Given the description of an element on the screen output the (x, y) to click on. 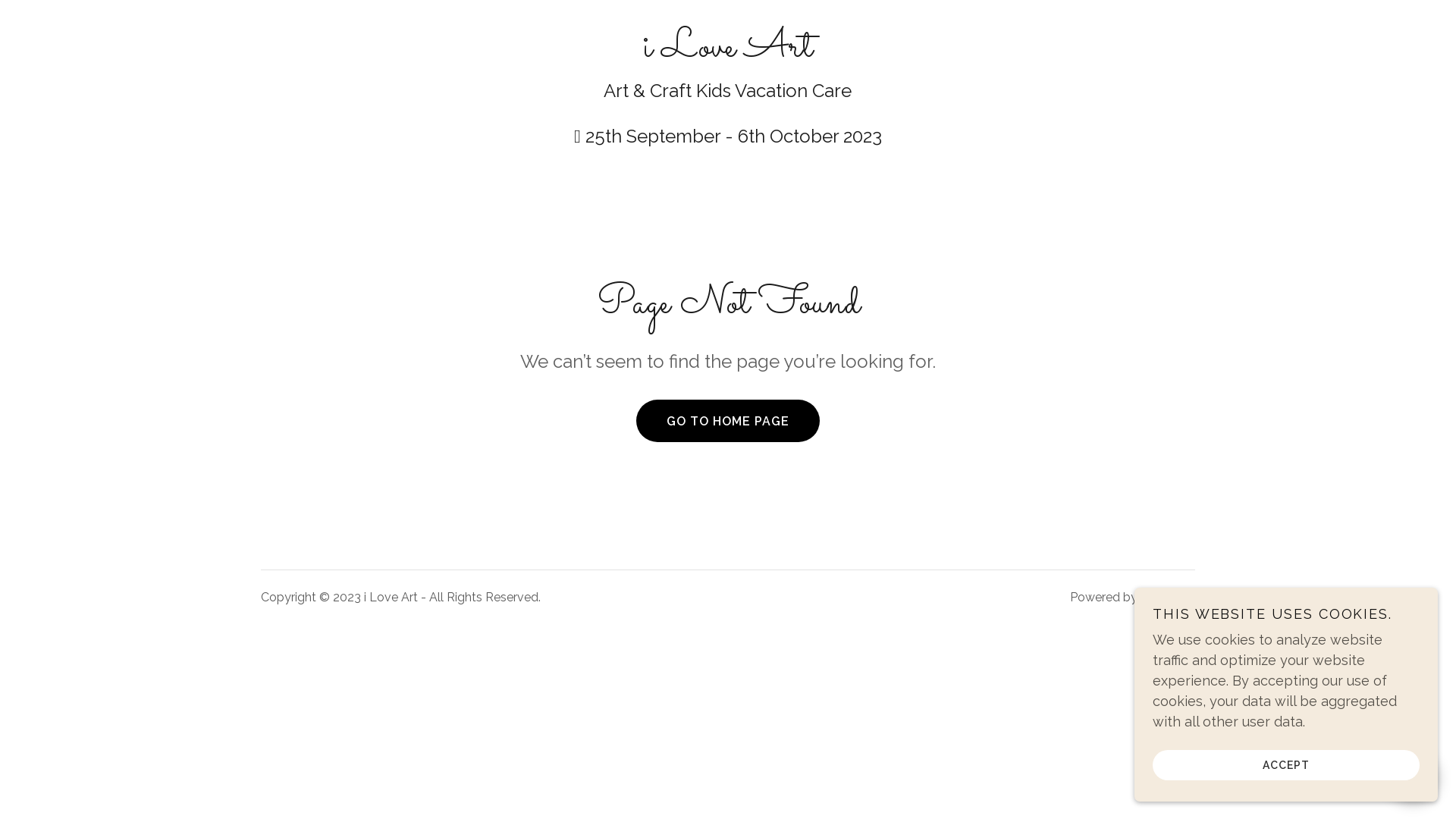
GoDaddy Element type: text (1167, 596)
i Love Art Element type: text (727, 51)
ACCEPT Element type: text (1285, 764)
GO TO HOME PAGE Element type: text (727, 420)
